Given the description of an element on the screen output the (x, y) to click on. 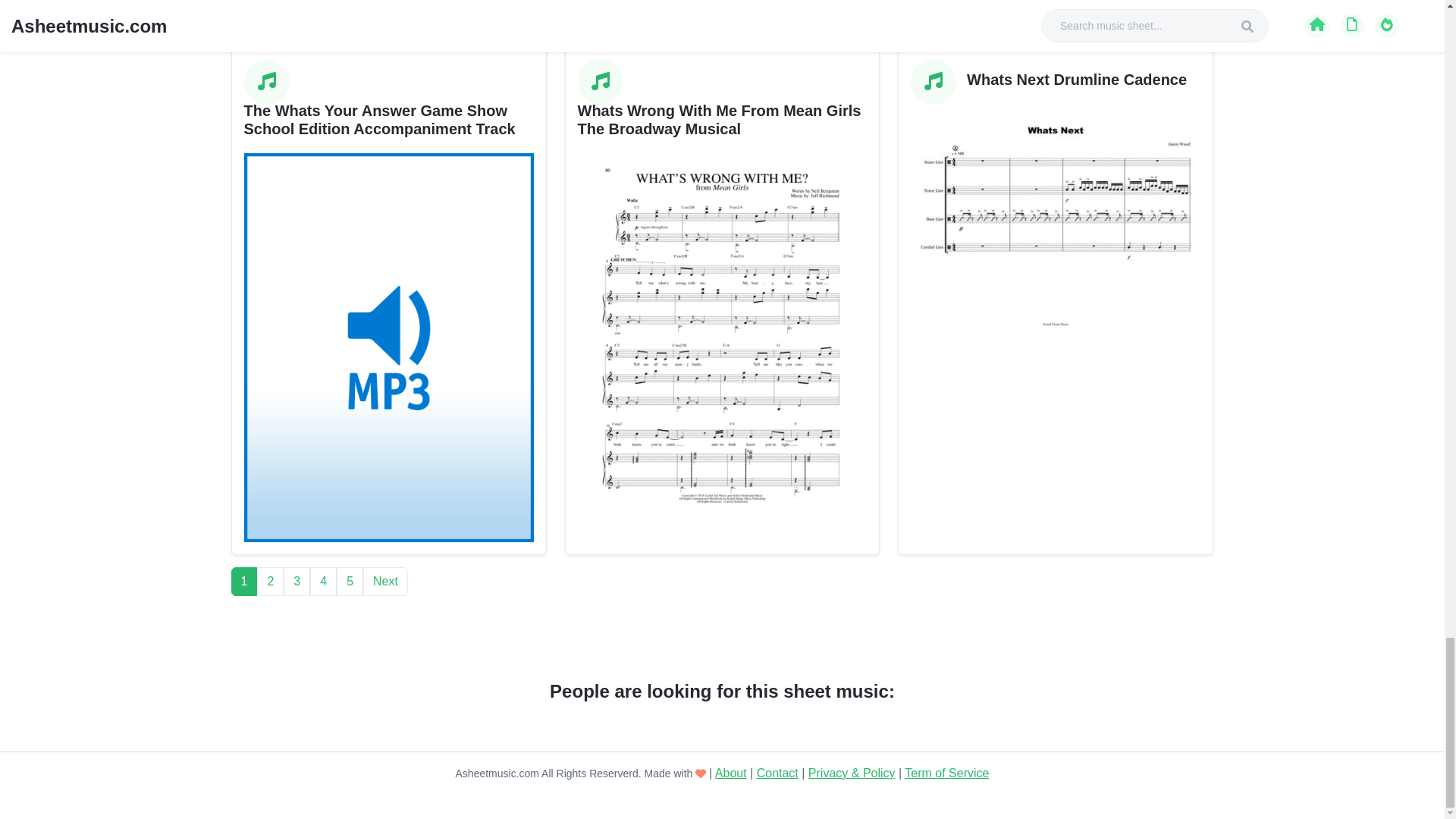
Contact (777, 772)
4 (323, 581)
2 (270, 581)
Term of Service (946, 772)
About (730, 772)
3 (296, 581)
Next (384, 581)
1 (243, 581)
5 (349, 581)
